Given the description of an element on the screen output the (x, y) to click on. 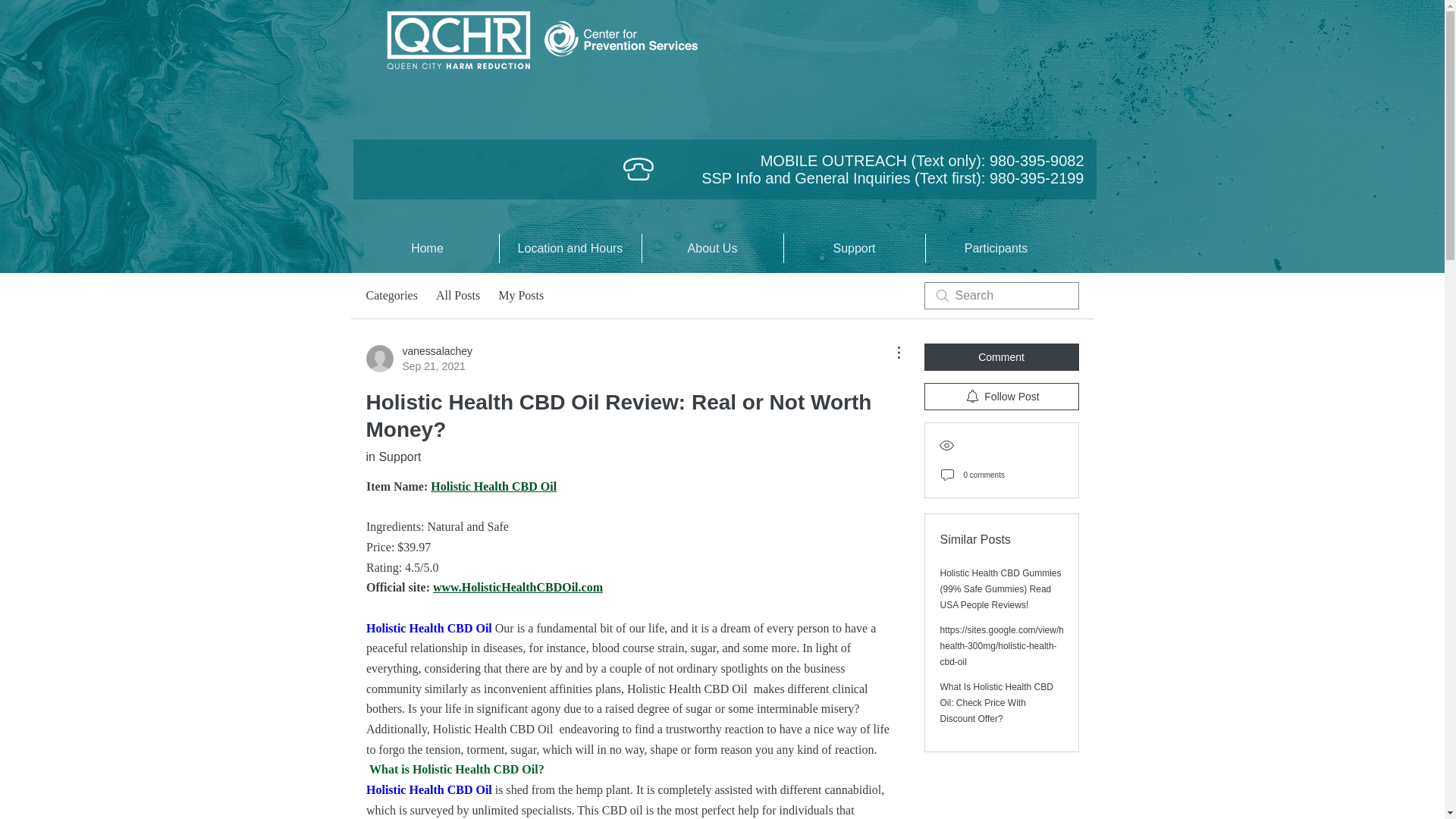
Location and Hours (569, 247)
Holistic Health CBD Oil (428, 627)
www.HolisticHealthCBDOil.com (517, 586)
in Support (418, 358)
Home (392, 456)
Participants (427, 247)
Support (994, 247)
About Us (854, 247)
My Posts (712, 247)
Holistic Health CBD Oil (520, 295)
All Posts (428, 789)
Categories (457, 295)
Holistic Health CBD Oil (390, 295)
